Given the description of an element on the screen output the (x, y) to click on. 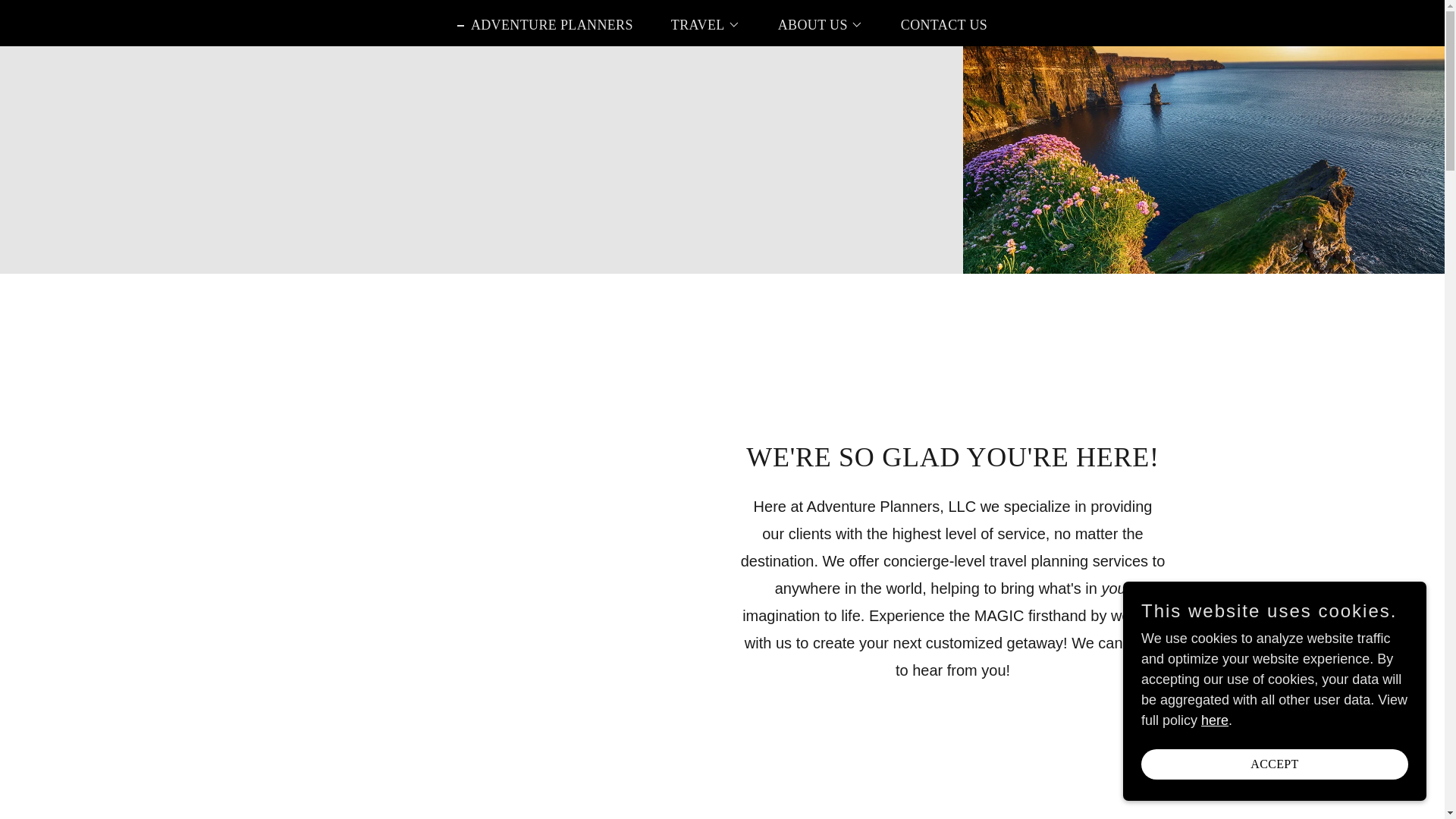
CONTACT US (936, 24)
ADVENTURE PLANNERS (545, 24)
ABOUT US (813, 24)
TRAVEL (698, 24)
